Given the description of an element on the screen output the (x, y) to click on. 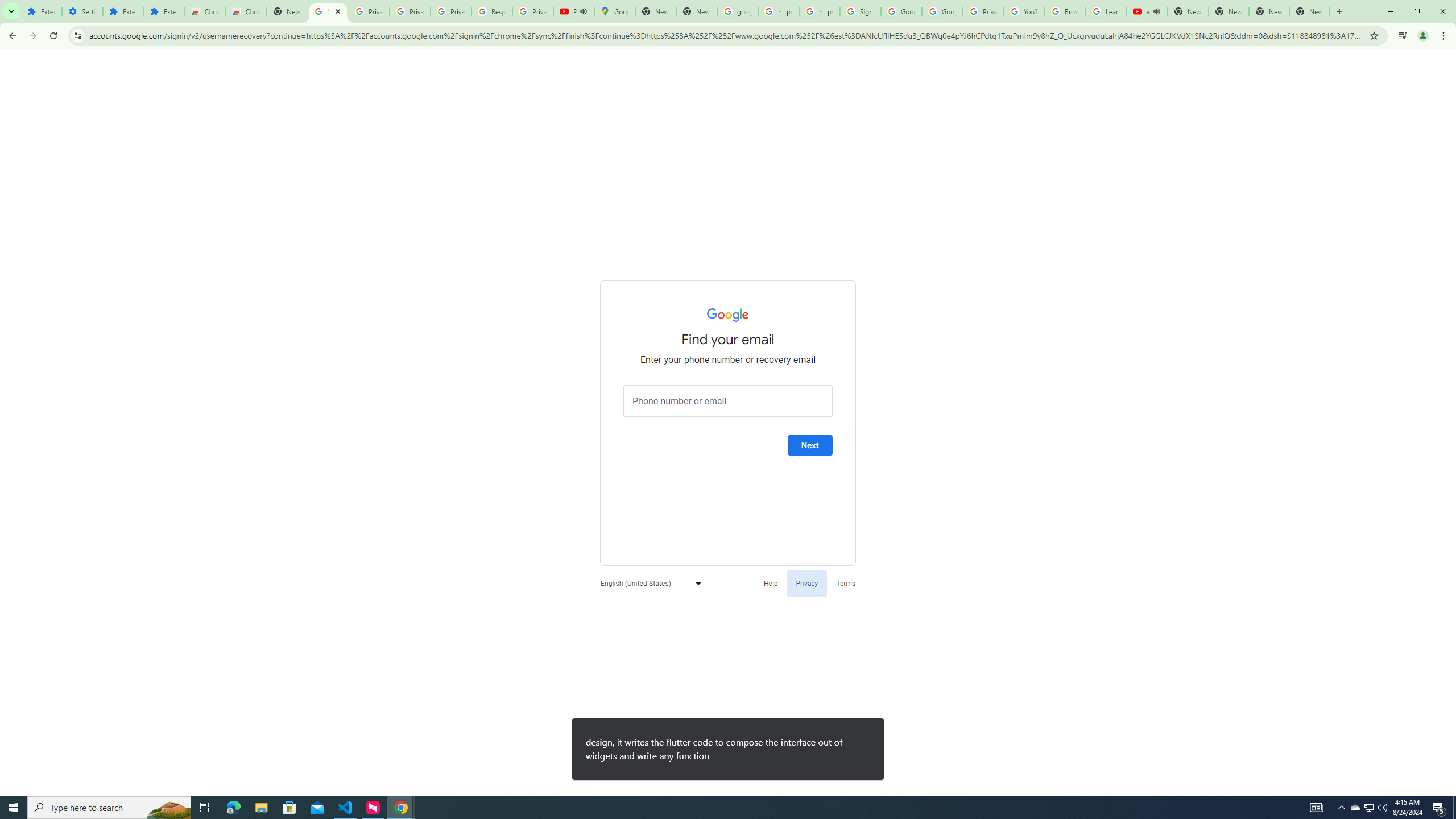
New Tab (287, 11)
Sign in - Google Accounts (327, 11)
https://scholar.google.com/ (777, 11)
Next (809, 445)
Help (770, 583)
Extensions (41, 11)
Personalized AI for you | Gemini - YouTube - Audio playing (573, 11)
Settings (81, 11)
